Given the description of an element on the screen output the (x, y) to click on. 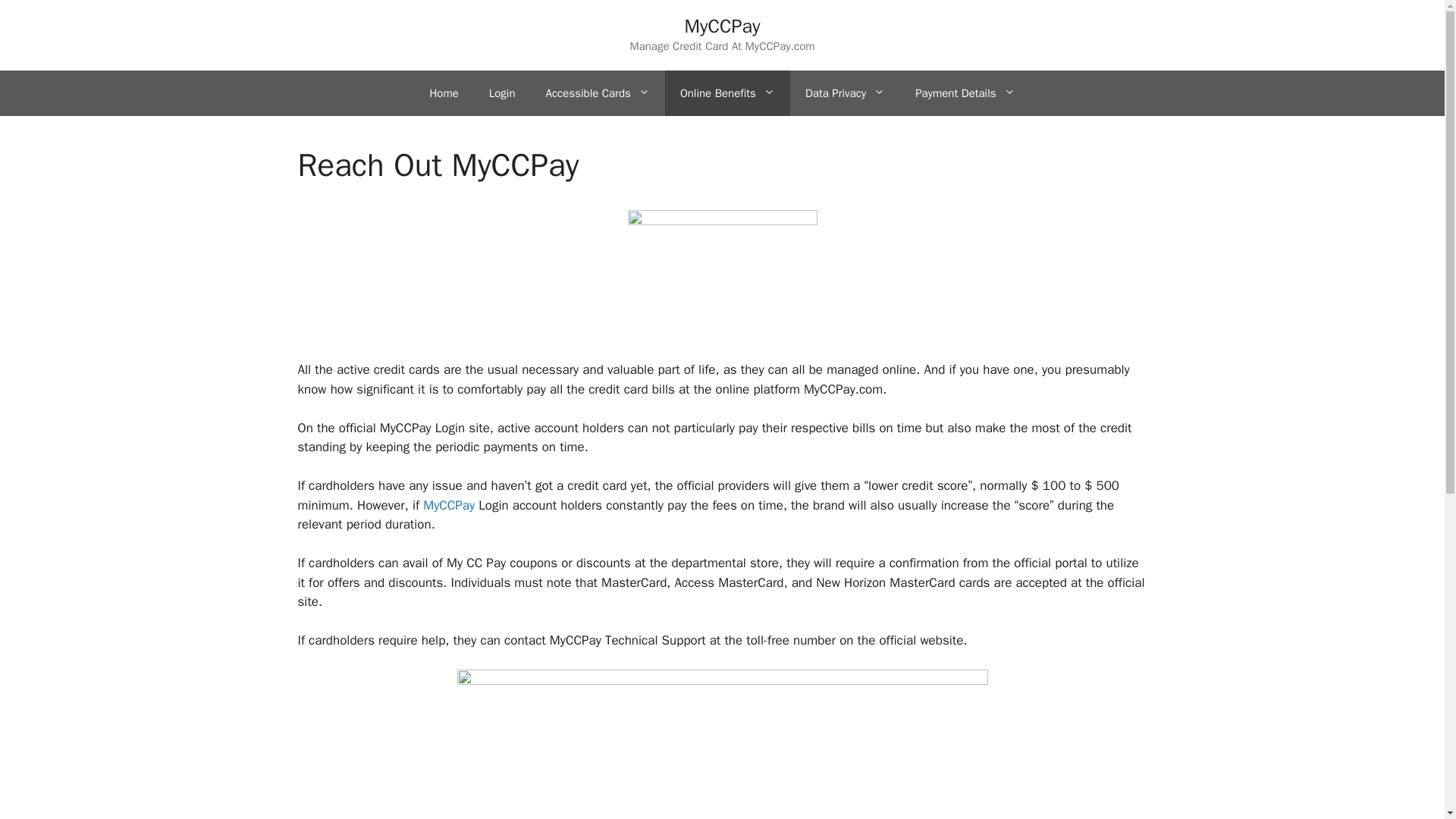
MyCCPay (722, 25)
MyCCPay (448, 505)
Accessible Cards (598, 92)
Data Privacy (844, 92)
Online Benefits (727, 92)
Login (502, 92)
Home (443, 92)
Payment Details (964, 92)
